Given the description of an element on the screen output the (x, y) to click on. 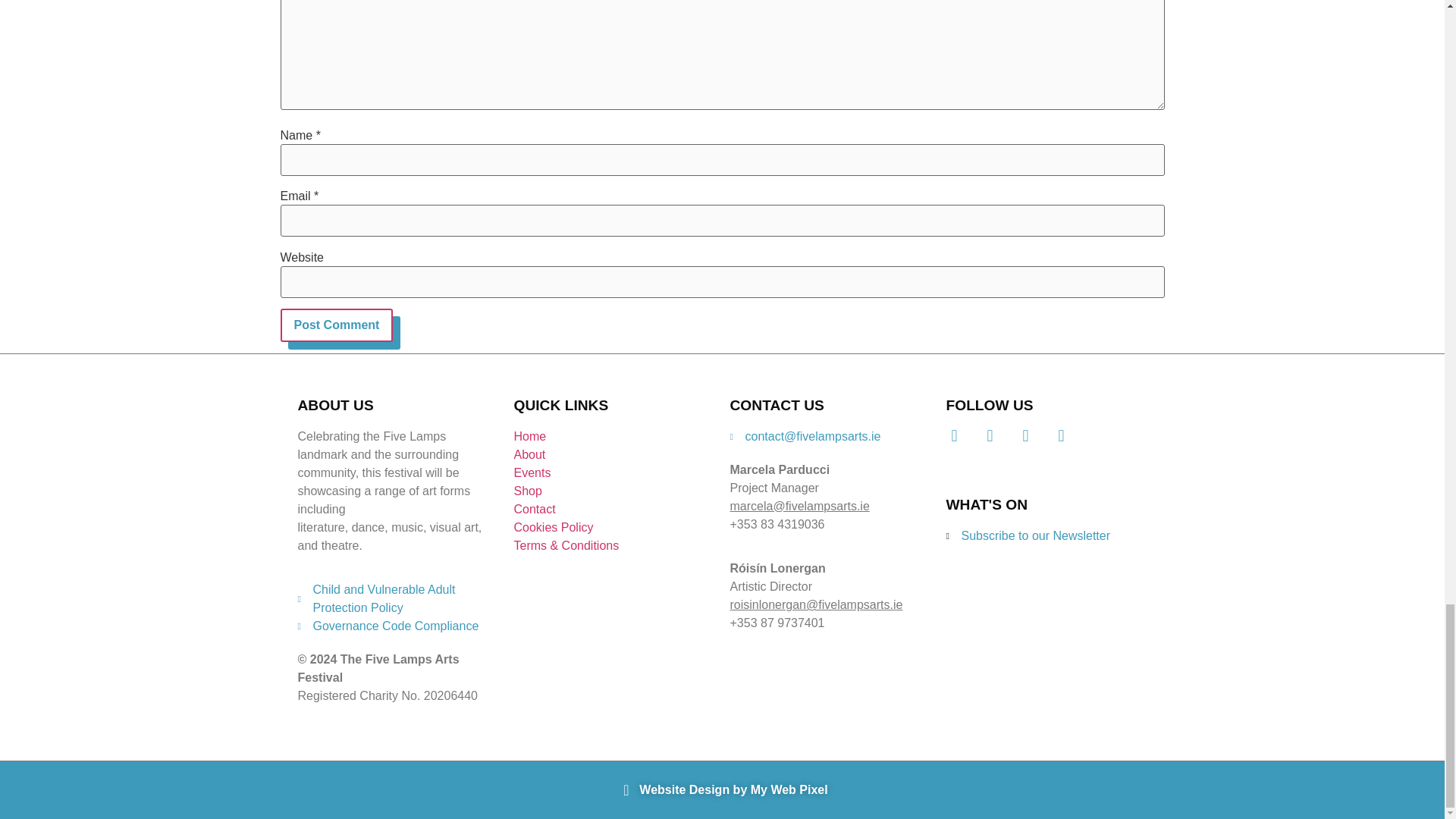
Post Comment (337, 325)
